Given the description of an element on the screen output the (x, y) to click on. 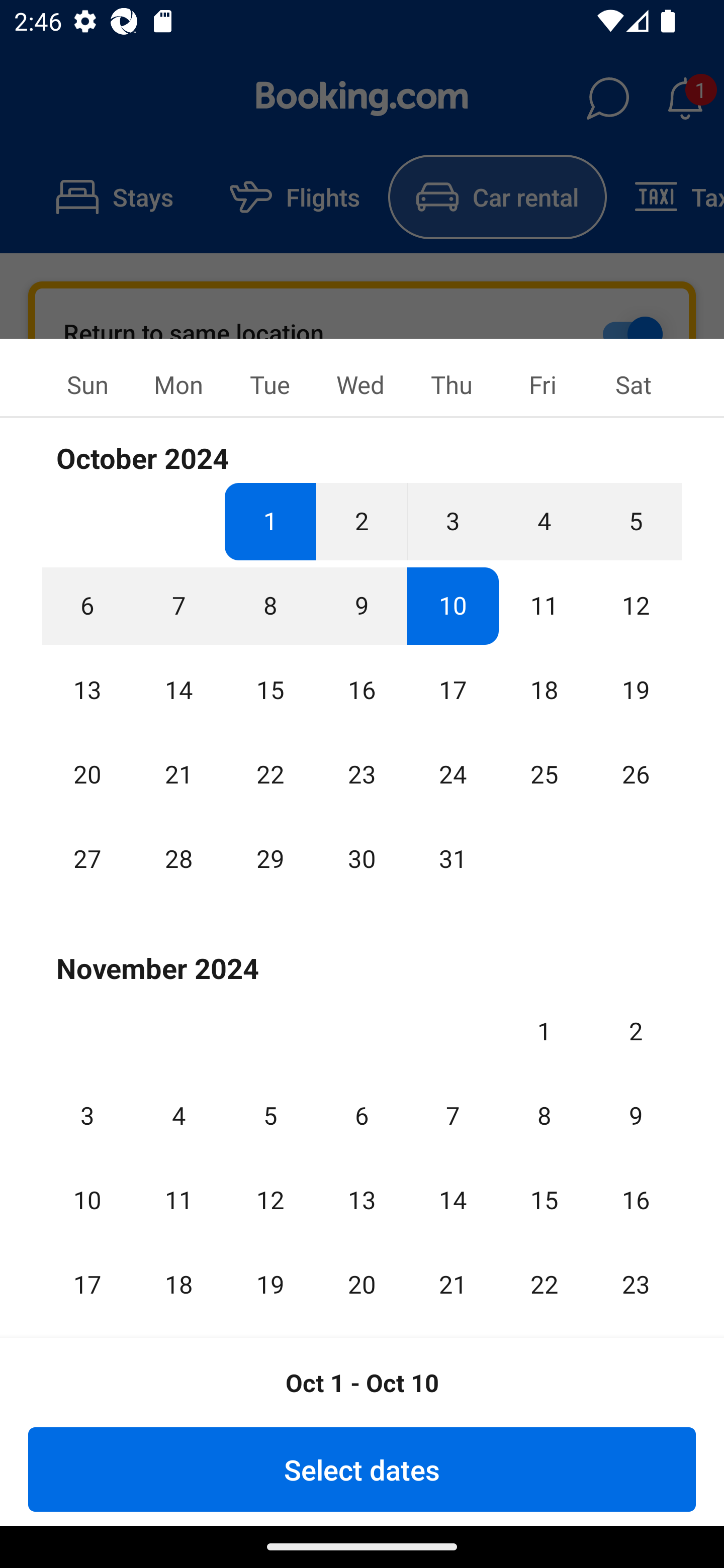
Select dates (361, 1468)
